Given the description of an element on the screen output the (x, y) to click on. 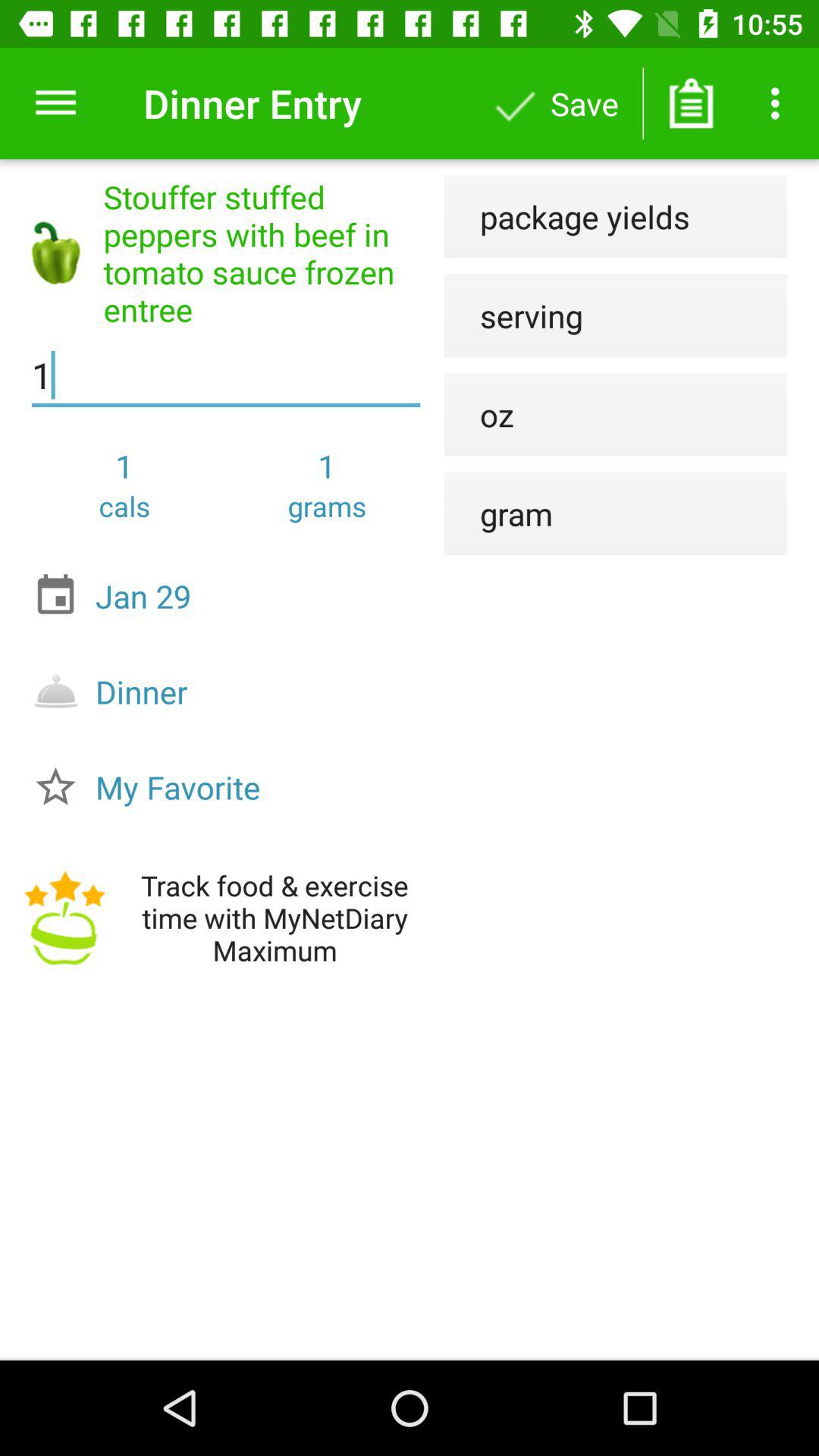
select the item next to the jan 29 icon (498, 513)
